Given the description of an element on the screen output the (x, y) to click on. 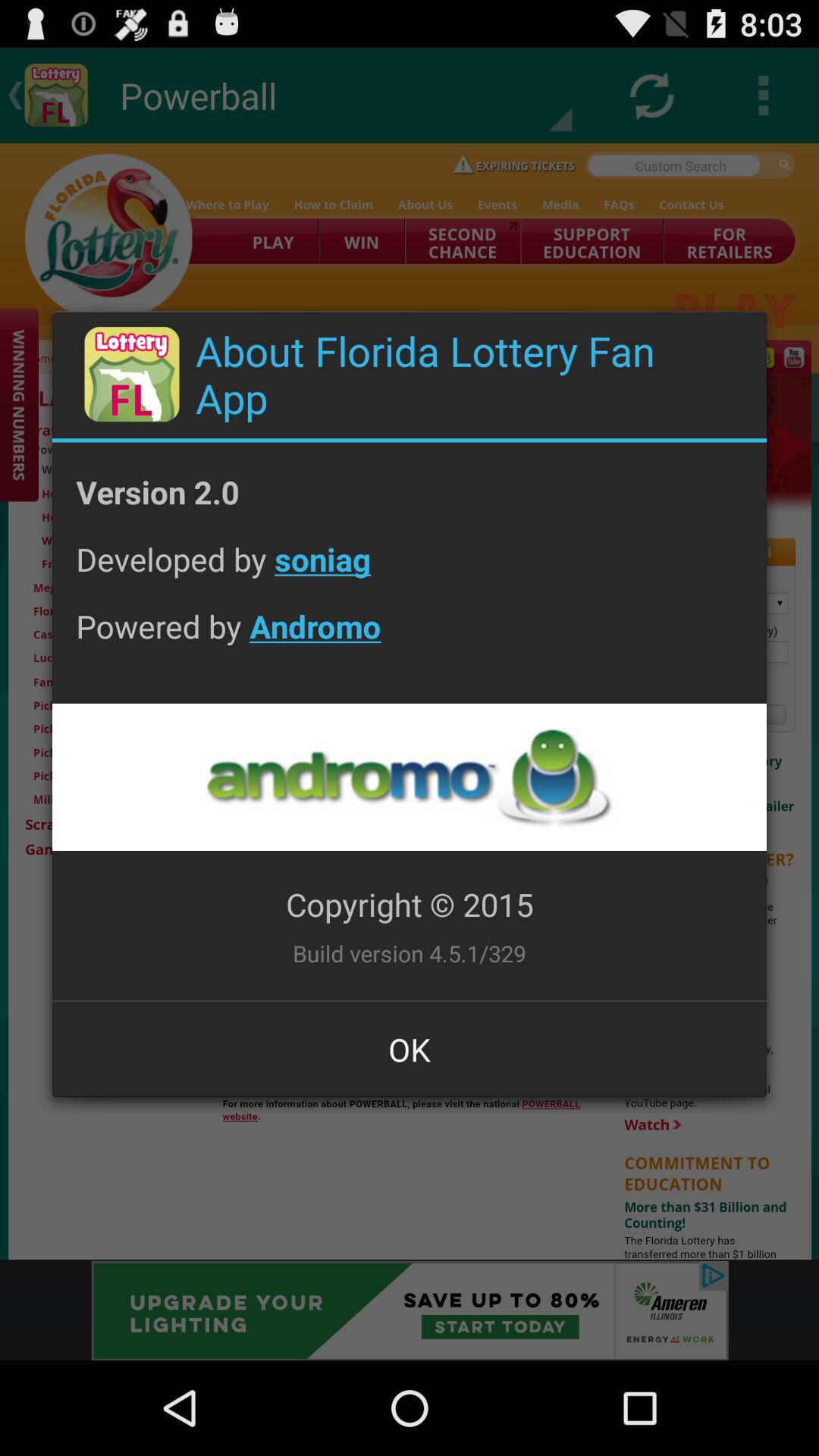
open page (408, 776)
